Given the description of an element on the screen output the (x, y) to click on. 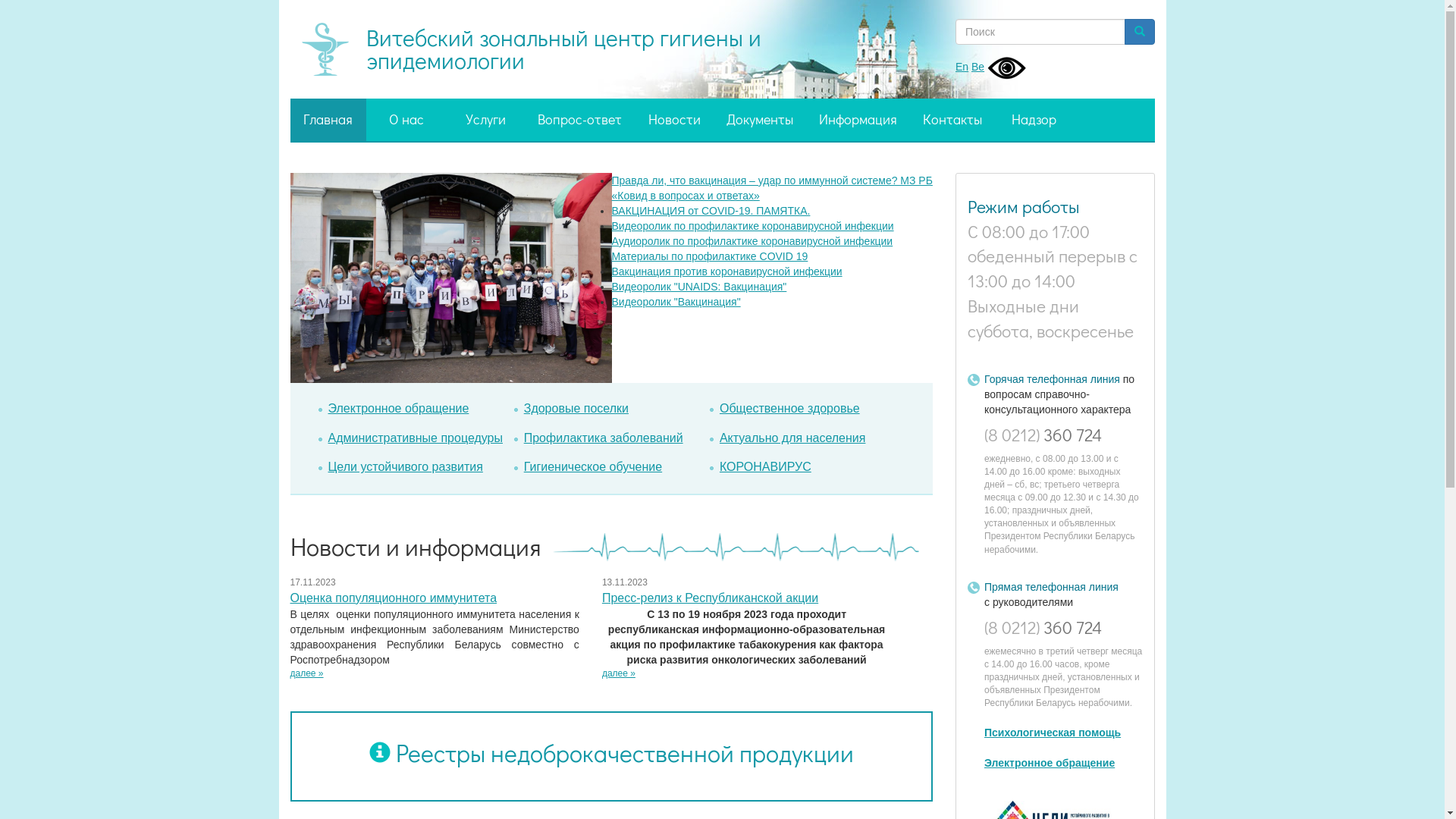
En Element type: text (961, 66)
Be Element type: text (977, 66)
